Given the description of an element on the screen output the (x, y) to click on. 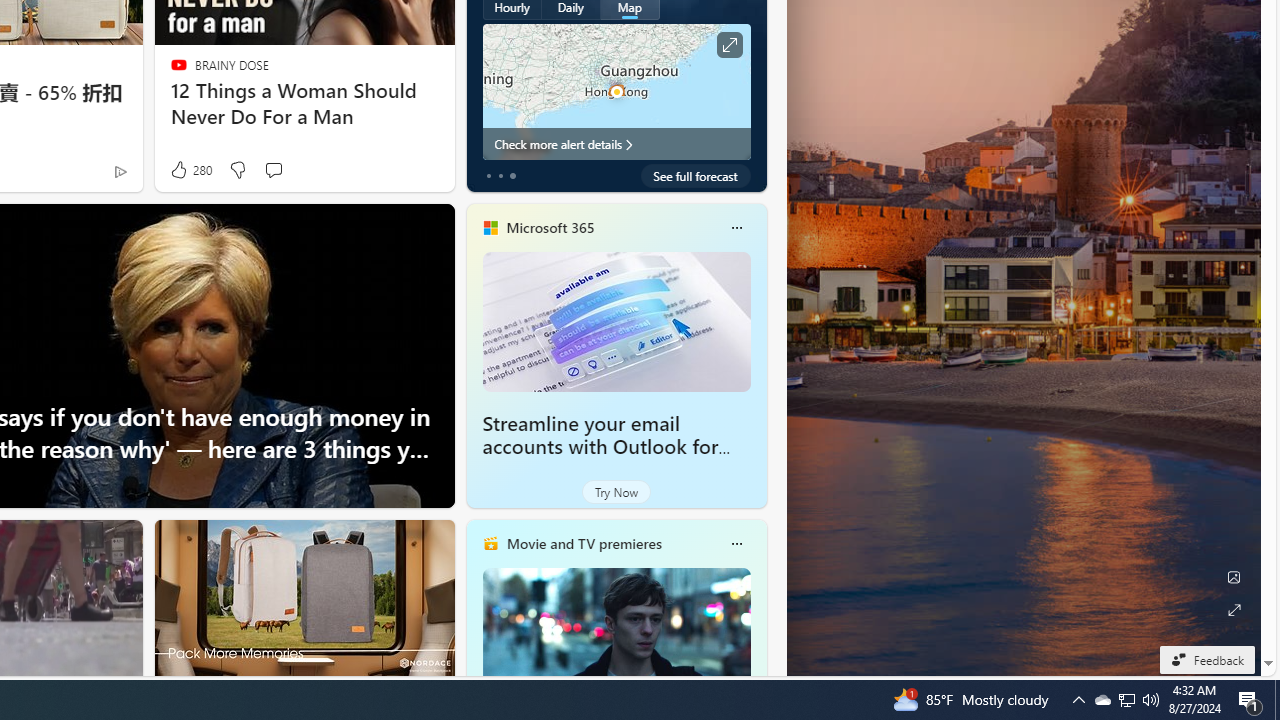
tab-2 (511, 175)
See full forecast (695, 175)
Edit Background (1233, 577)
Streamline your email accounts with Outlook for Windows (616, 321)
